Given the description of an element on the screen output the (x, y) to click on. 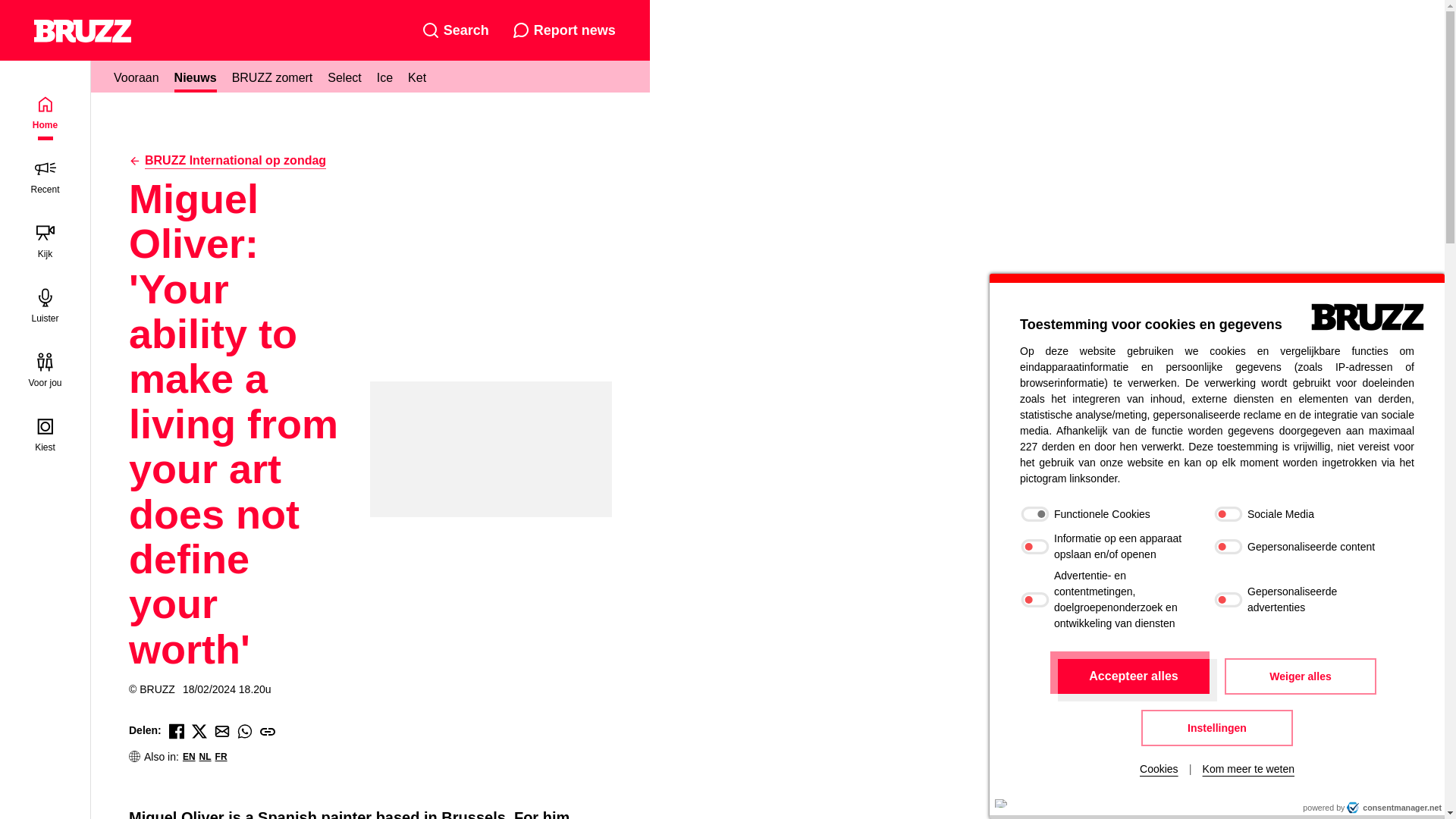
Nieuws (195, 75)
Select (344, 75)
Kom meer te weten (1248, 768)
227 derden (1047, 446)
Copy link (267, 729)
Language: nl (1000, 803)
BRUZZ zomert (272, 75)
Language: nl (1000, 803)
Find BRUZZ on facebook (176, 729)
BRUZZ zomert (272, 75)
